Given the description of an element on the screen output the (x, y) to click on. 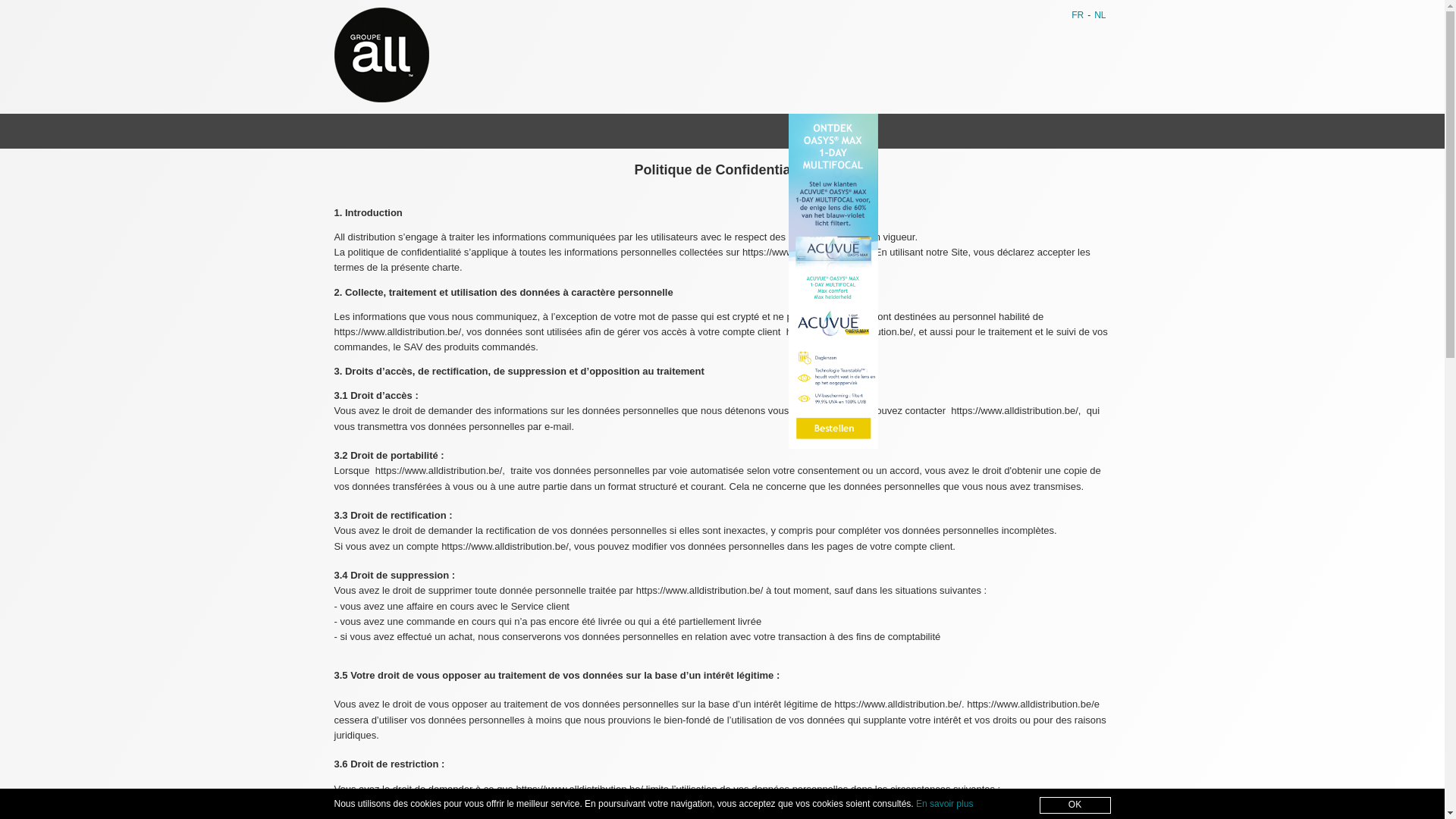
Groupe All Element type: hover (721, 54)
En savoir plus Element type: text (944, 803)
NL Element type: text (1099, 14)
OK Element type: text (1074, 805)
FR Element type: text (1077, 14)
